Given the description of an element on the screen output the (x, y) to click on. 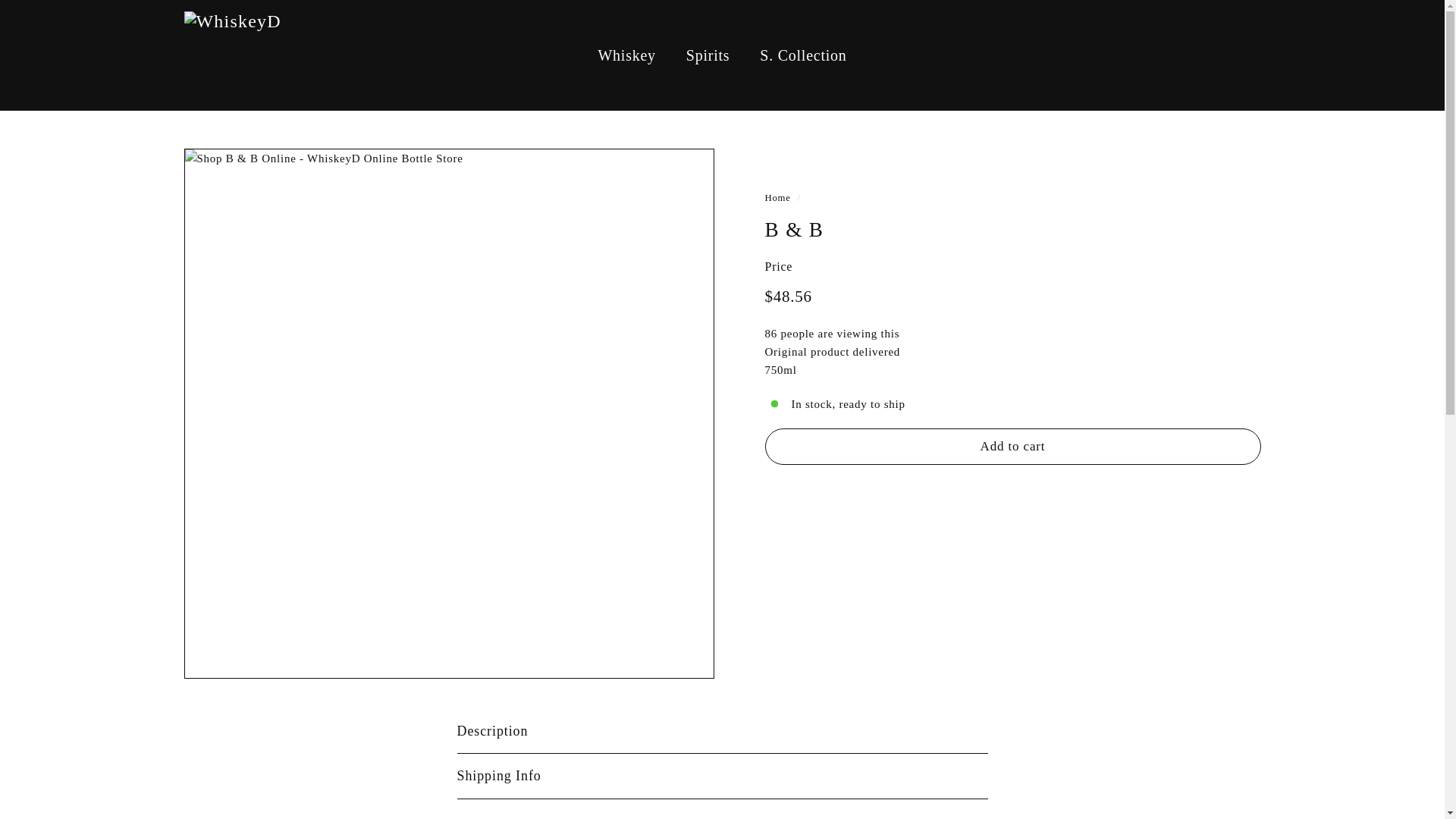
Back to the frontpage (777, 197)
